Given the description of an element on the screen output the (x, y) to click on. 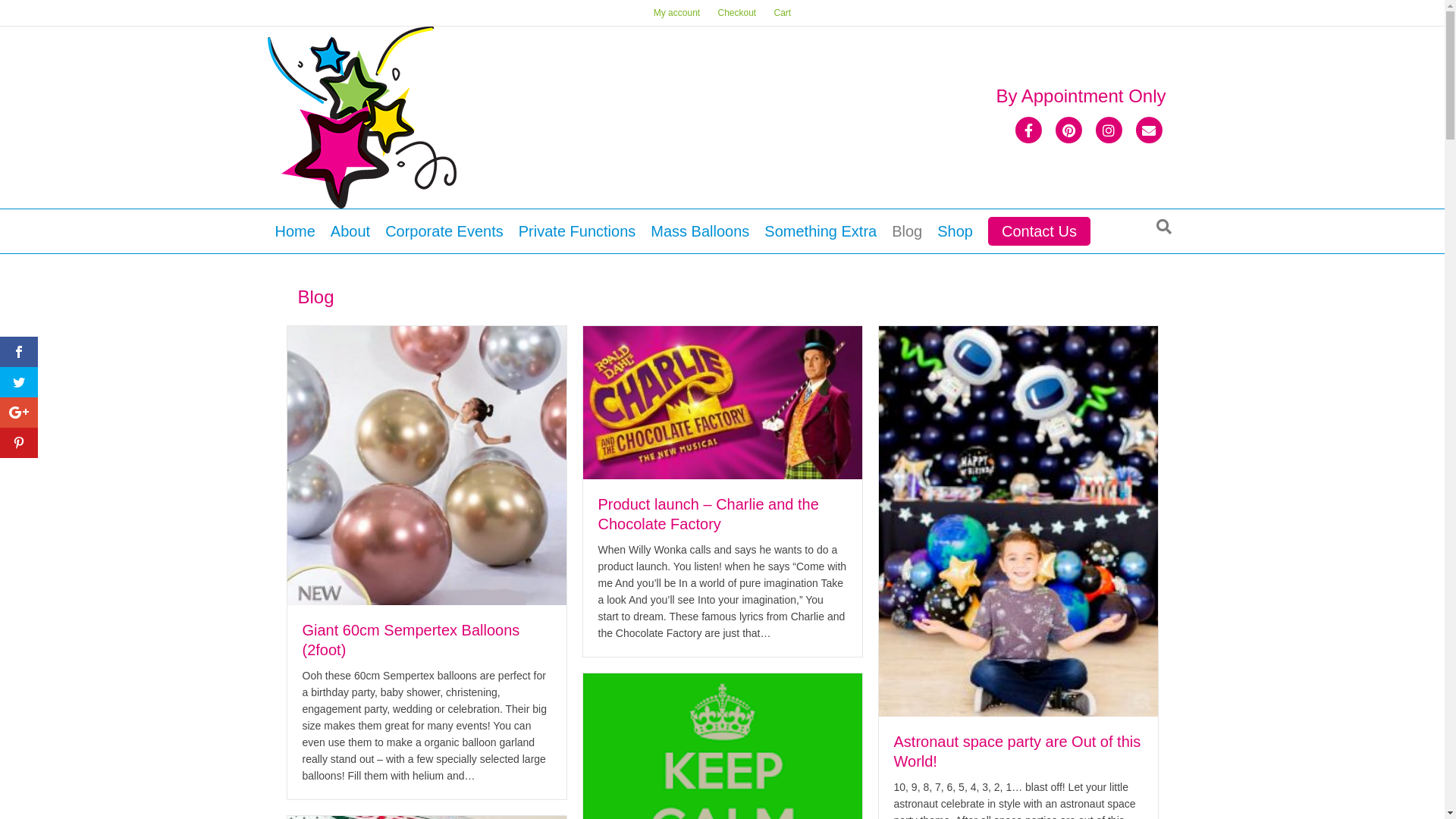
Giant 60cm Sempertex Balloons (2foot) Element type: hover (425, 463)
Cart Element type: text (782, 12)
Giant 60cm Sempertex Balloons (2foot) Element type: text (410, 639)
Pinterest Element type: text (1068, 130)
Home Element type: text (294, 231)
Corporate Events Element type: text (444, 231)
Private Functions Element type: text (577, 231)
About Element type: text (350, 231)
Checkout Element type: text (736, 12)
Facebook Element type: text (1028, 130)
Contact Us Element type: text (1039, 230)
Blog Element type: text (906, 231)
Instagram Element type: text (1109, 130)
Shop Element type: text (954, 231)
Mass Balloons Element type: text (699, 231)
Email Element type: text (1148, 130)
Astronaut space party are Out of this World! Element type: hover (1017, 519)
Astronaut space party are Out of this World! Element type: text (1016, 751)
My account Element type: text (676, 12)
Something Extra Element type: text (820, 231)
